Given the description of an element on the screen output the (x, y) to click on. 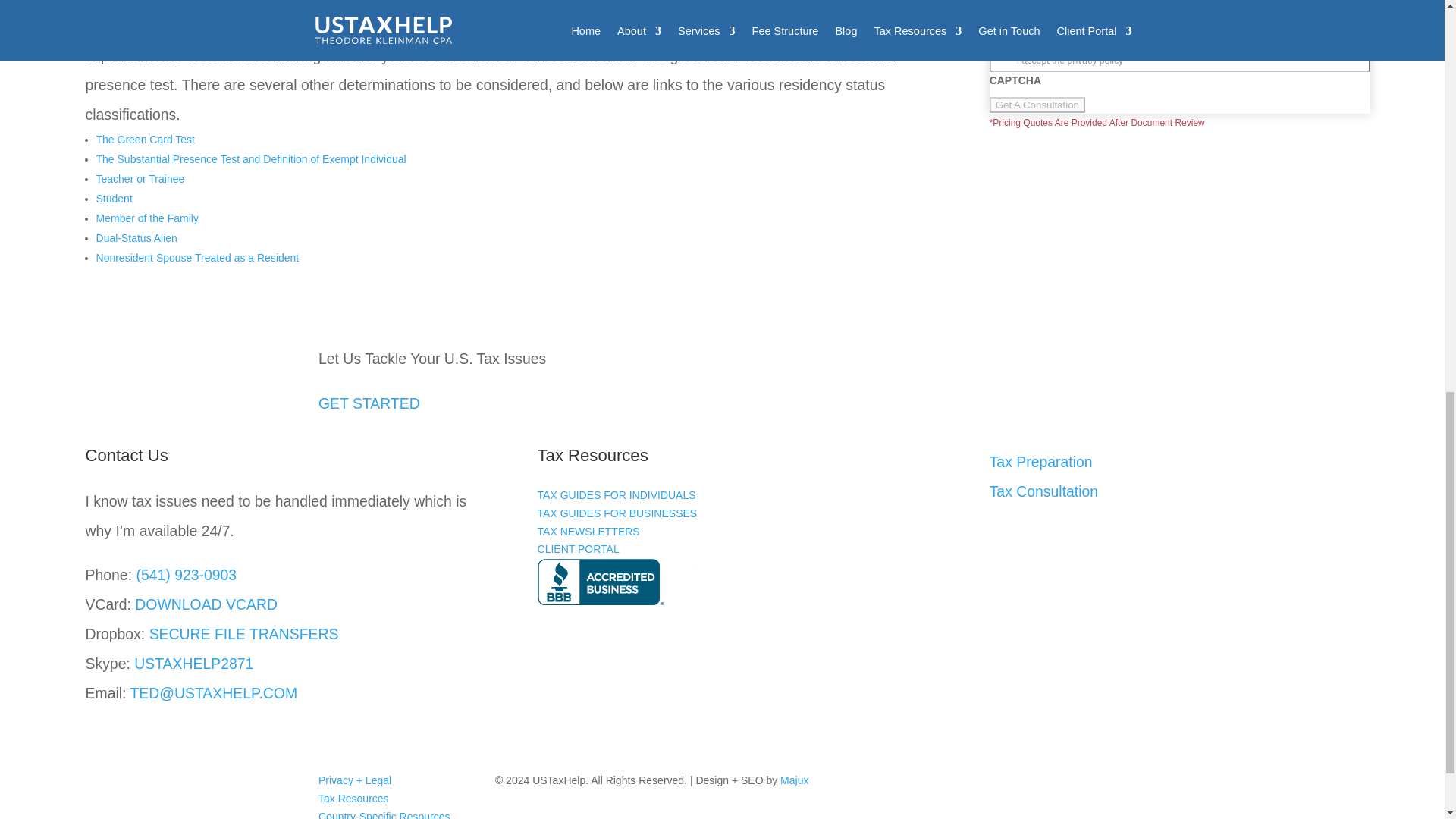
Member of the Family (147, 218)
foreign taxes (140, 178)
US taxes for expats (236, 26)
expat tax help (147, 218)
expat taxes (251, 159)
Nonresident Spouse Treated as a Resident (197, 257)
us tax help (136, 237)
USTAXHELP2871 (193, 663)
Dual-Status Alien (136, 237)
SECURE FILE TRANSFERS (244, 633)
green card (145, 139)
DOWNLOAD VCARD (206, 604)
Teacher or Trainee (140, 178)
IRS Publication 519, U.S. Tax Guide for Aliens (236, 26)
GET STARTED (369, 402)
